Given the description of an element on the screen output the (x, y) to click on. 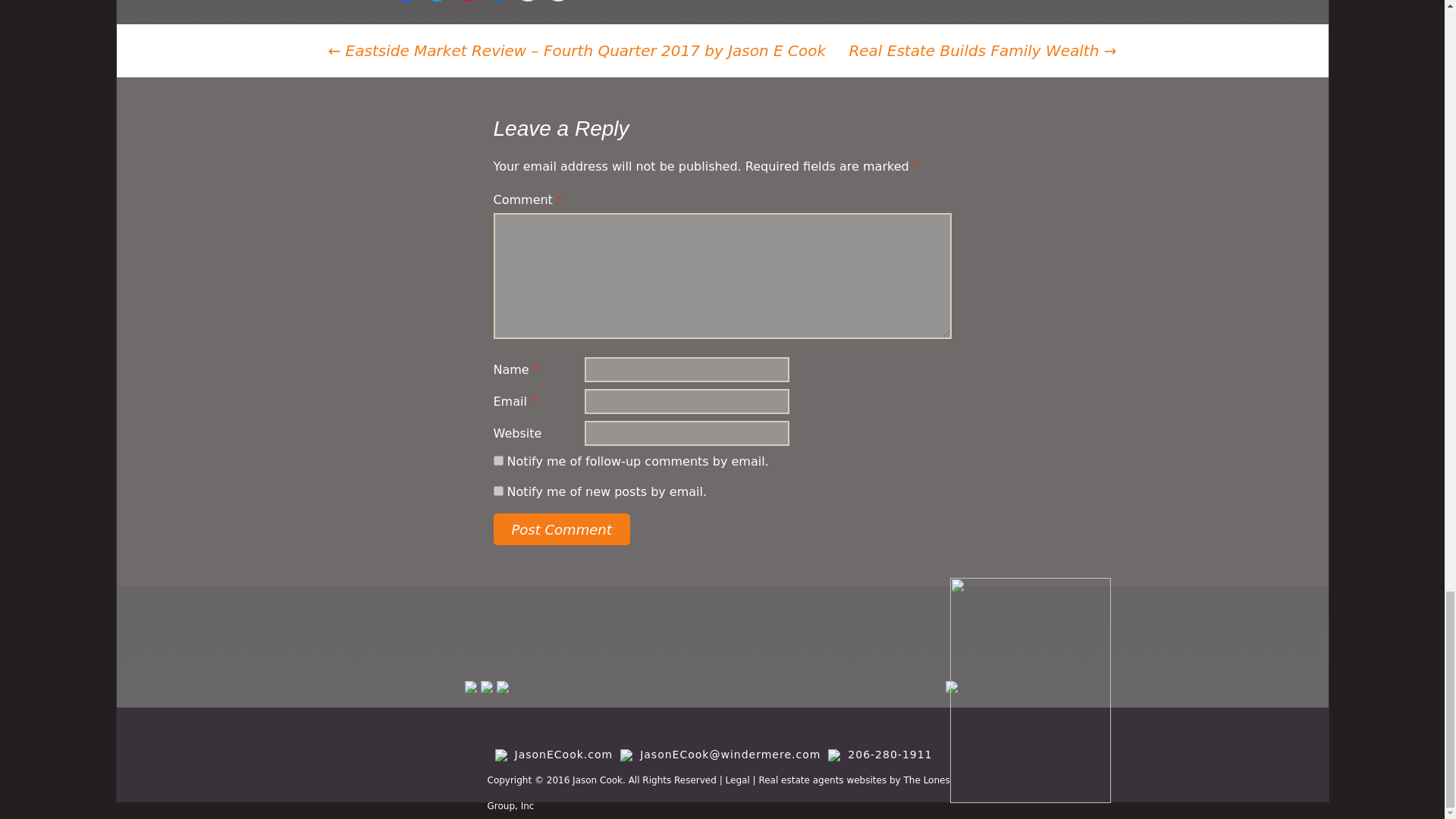
Click to share on LinkedIn (496, 0)
Click to share on Twitter (436, 0)
Click to email a link to a friend (527, 0)
Click to share on Pinterest (466, 0)
subscribe (497, 491)
Click to share on Facebook (406, 0)
Click to print (558, 0)
subscribe (497, 460)
Post Comment (560, 529)
